Given the description of an element on the screen output the (x, y) to click on. 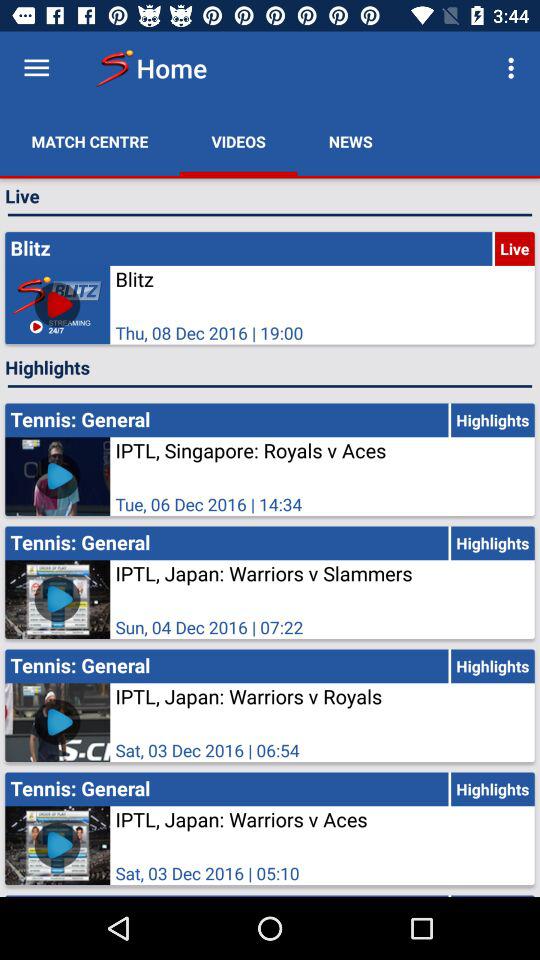
turn on app to the left of news (238, 141)
